Given the description of an element on the screen output the (x, y) to click on. 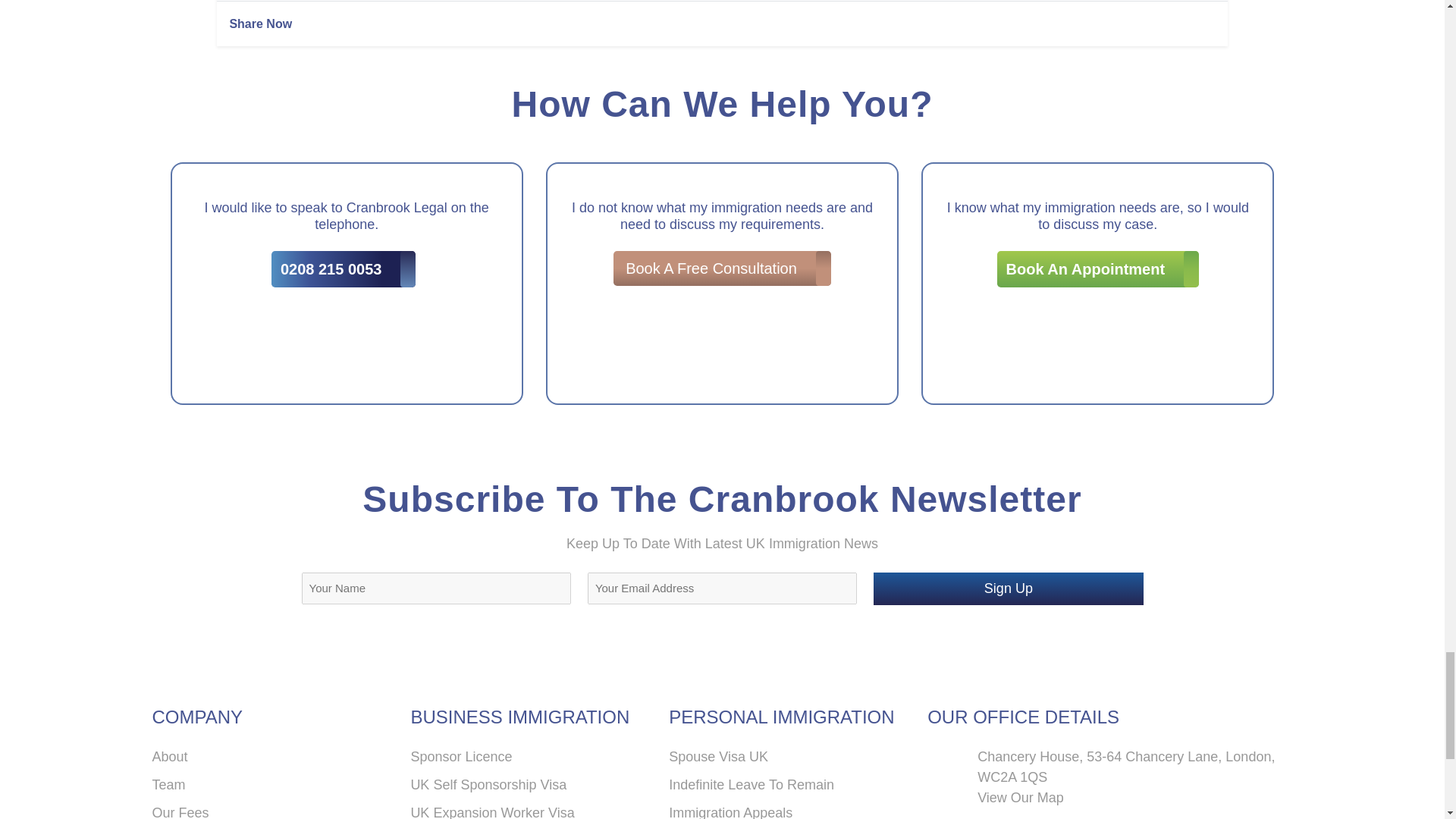
Sign Up (1007, 588)
